Given the description of an element on the screen output the (x, y) to click on. 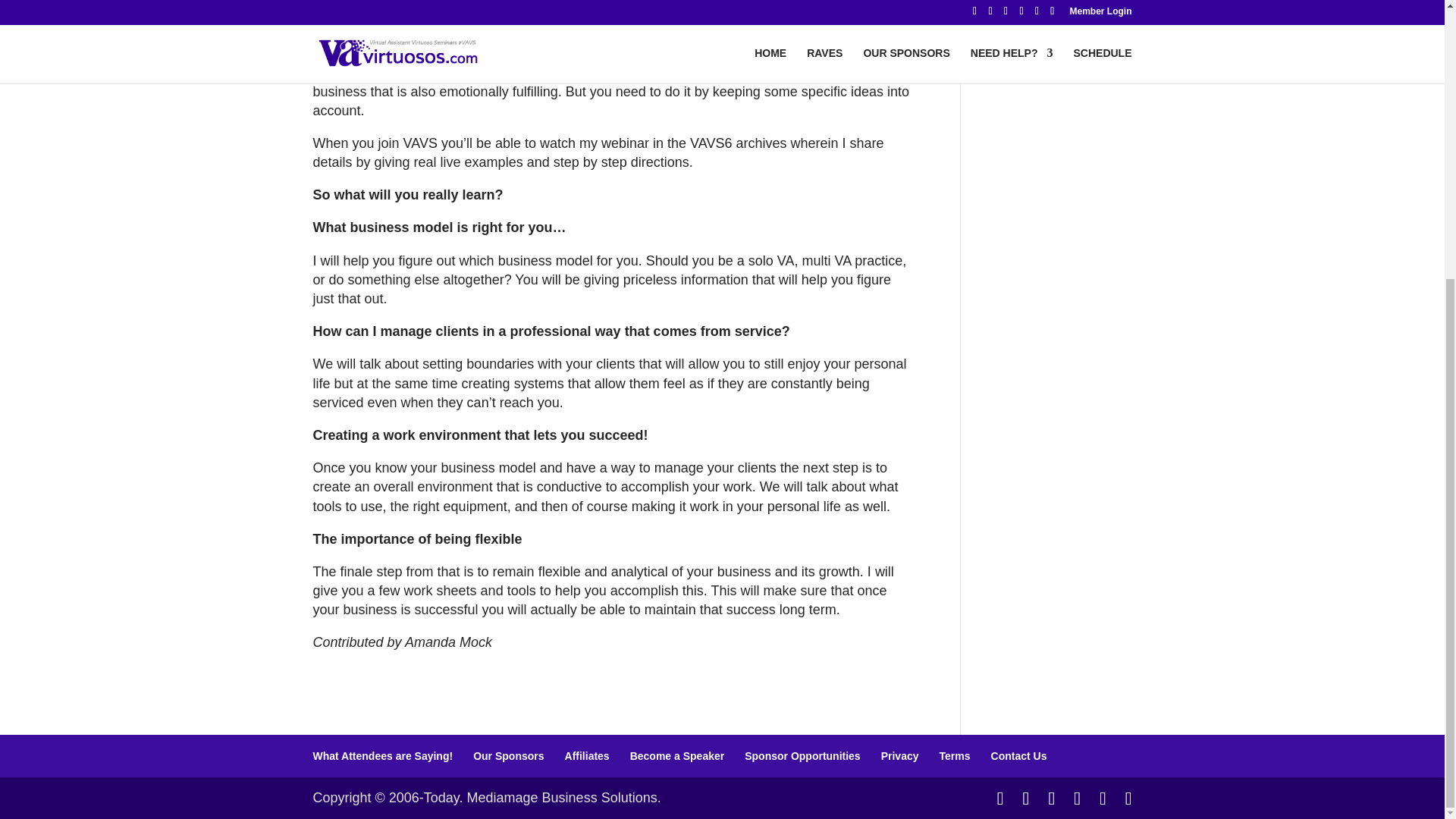
Affiliates (587, 756)
Privacy (899, 756)
Contact Us (1018, 756)
What Attendees are Saying! (382, 756)
Terms (955, 756)
Become a Speaker (677, 756)
Our Sponsors (508, 756)
Sponsor Opportunities (802, 756)
